Given the description of an element on the screen output the (x, y) to click on. 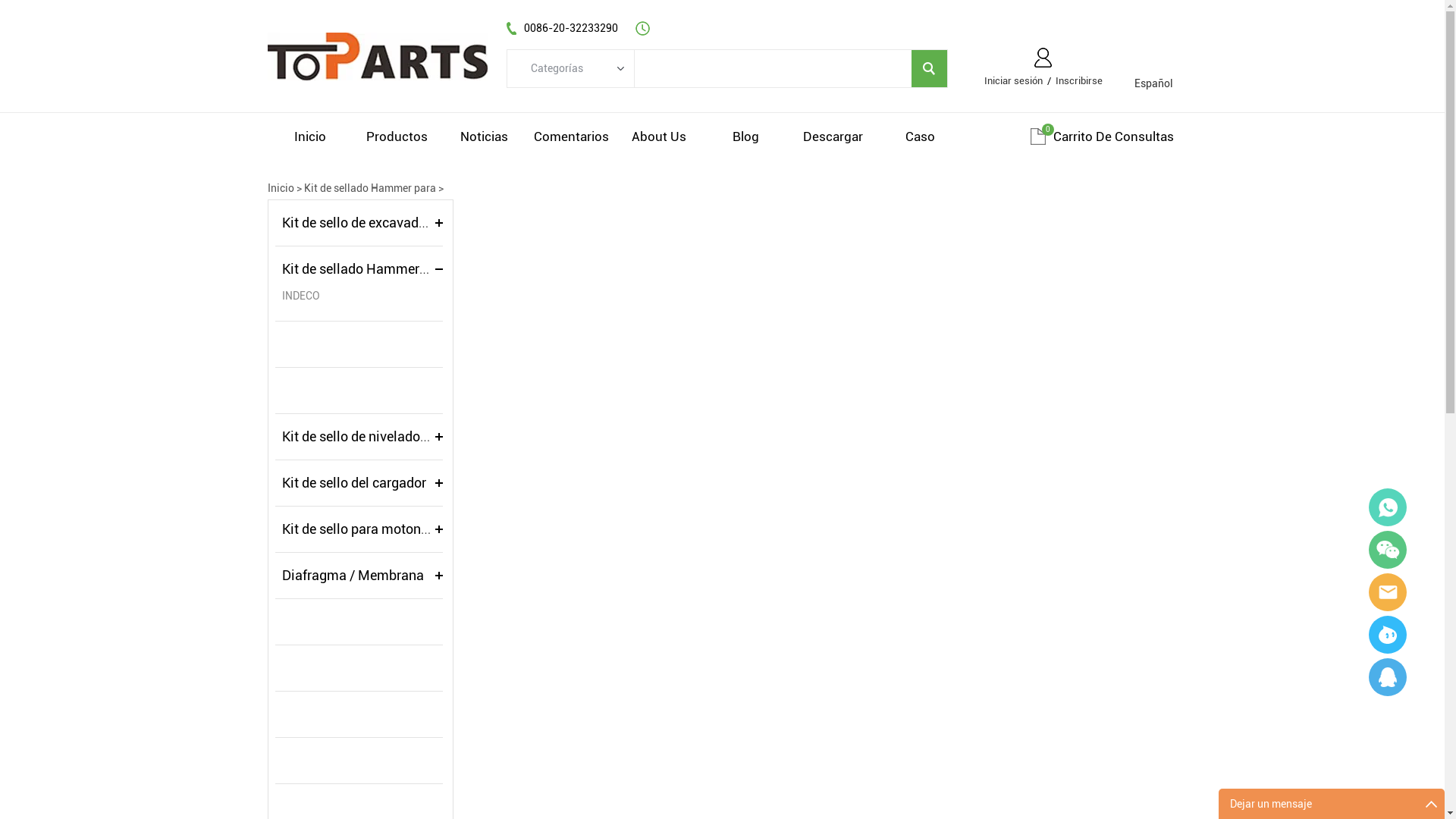
Noticias Element type: text (483, 136)
Carrito De Consultas Element type: text (1112, 136)
Inicio Element type: text (279, 188)
Diafragma / Membrana Element type: text (352, 575)
Kit de sello para motoniveladora Element type: text (379, 528)
Kit de sellado Hammer para Element type: text (369, 188)
About Us Element type: text (657, 136)
Kit de sello de excavadora Element type: text (360, 222)
INDECO Element type: text (362, 295)
Inicio Element type: text (308, 136)
Caso Element type: text (920, 136)
Kit de sello de niveladora Element type: text (357, 436)
Paul Element type: text (1387, 634)
Blog Element type: text (745, 136)
Inscribirse Element type: text (1078, 80)
Comentarios Element type: text (571, 136)
Kit de sello del cargador Element type: text (354, 482)
Kit de sellado Hammer para Element type: text (365, 268)
Productos Element type: text (396, 136)
Descargar Element type: text (832, 136)
